Given the description of an element on the screen output the (x, y) to click on. 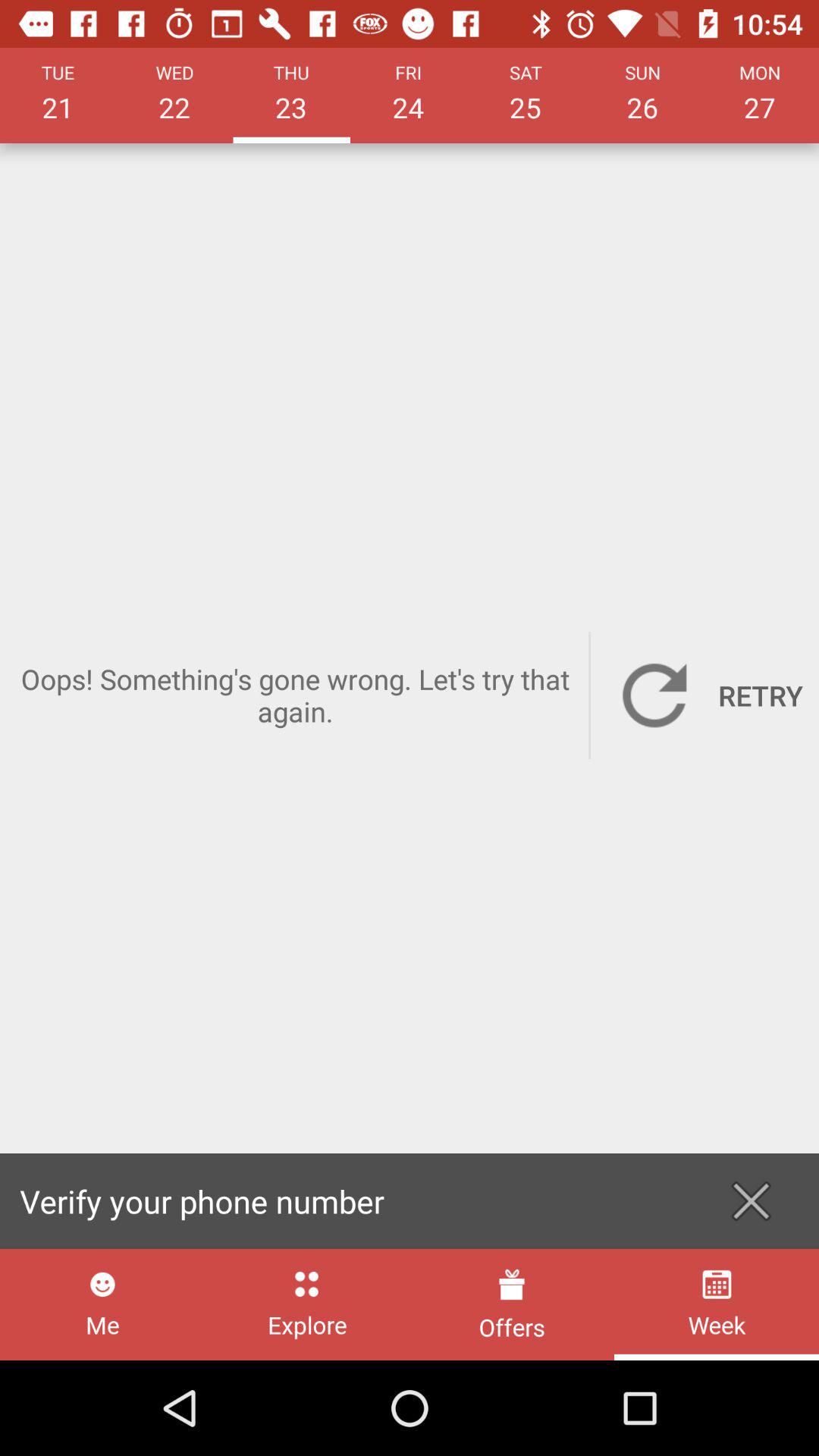
turn off the item next to the oops something s (704, 695)
